Given the description of an element on the screen output the (x, y) to click on. 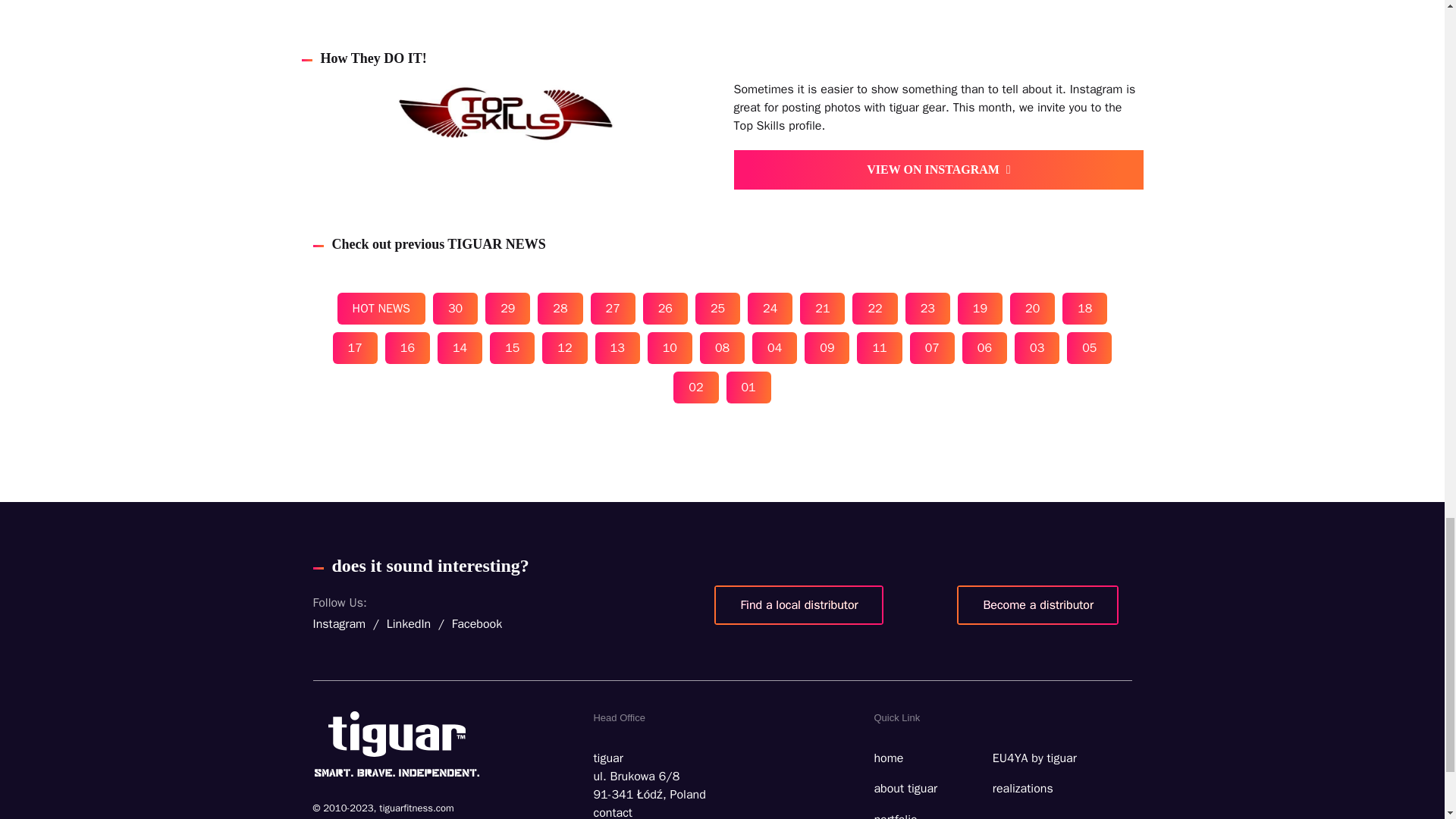
24 (770, 308)
21 (821, 308)
23 (927, 308)
22 (873, 308)
15 (511, 347)
17 (355, 347)
VIEW ON INSTAGRAM (937, 169)
25 (717, 308)
18 (1084, 308)
27 (612, 308)
